Given the description of an element on the screen output the (x, y) to click on. 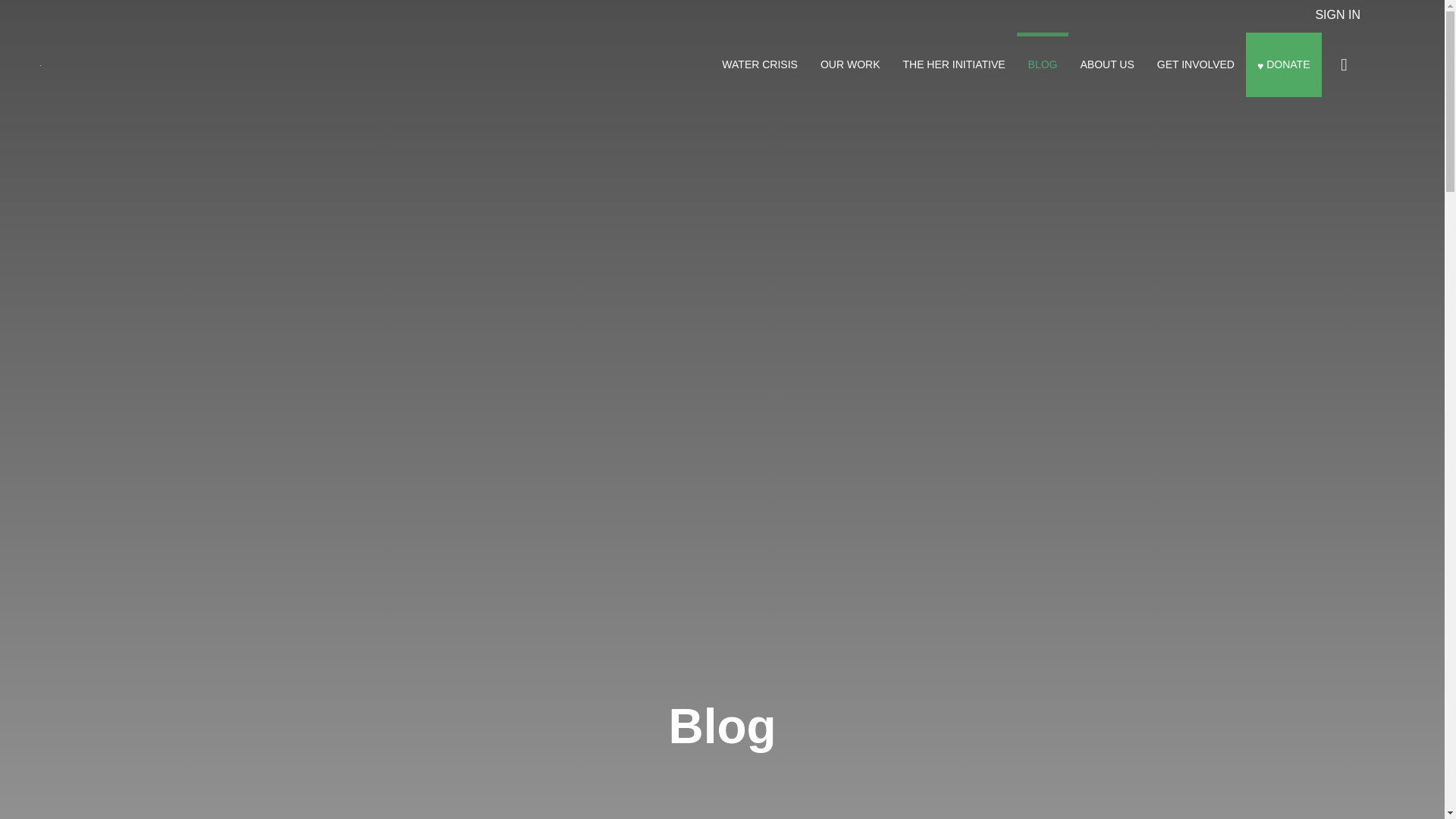
OUR WORK (850, 63)
THE HER INITIATIVE (953, 63)
DONATE (1284, 63)
ABOUT US (1106, 63)
GET INVOLVED (1195, 63)
SIGN IN (1337, 14)
Go (1343, 64)
WATER CRISIS (759, 63)
